Given the description of an element on the screen output the (x, y) to click on. 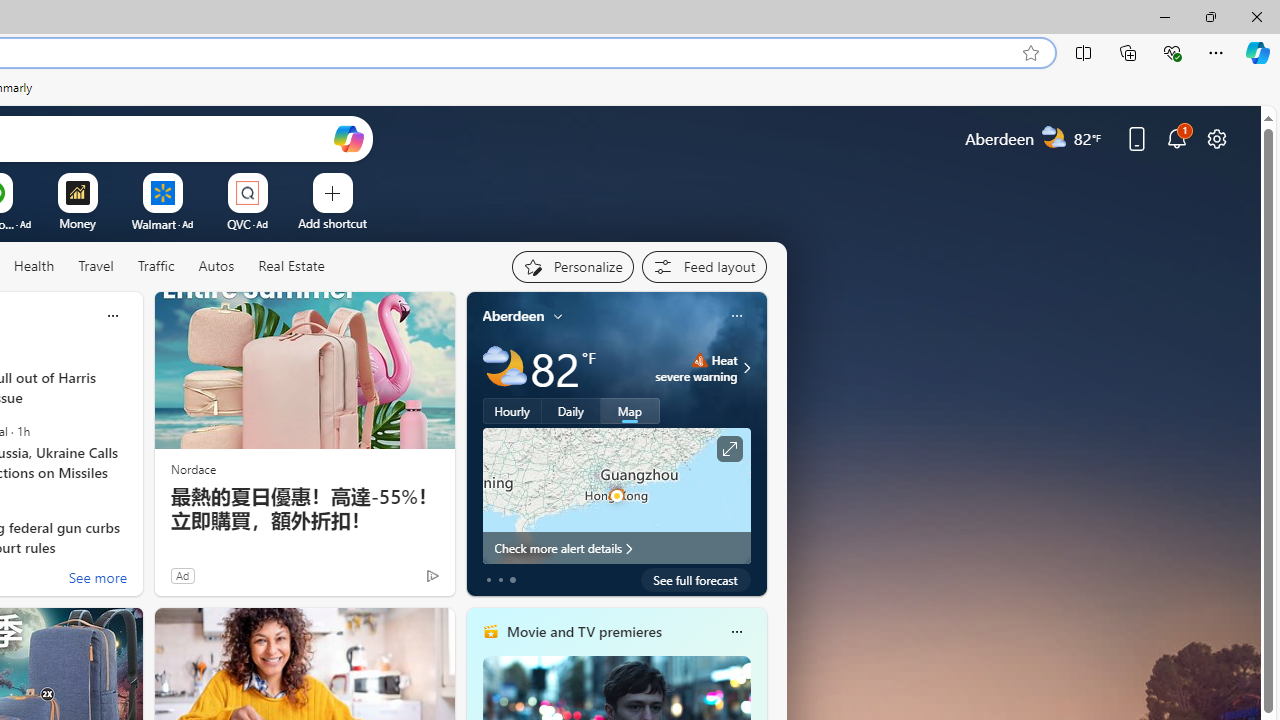
tab-1 (500, 579)
See full forecast (695, 579)
Heat - Severe Heat severe warning (696, 367)
Partly cloudy (504, 368)
Larger map  (616, 495)
